Given the description of an element on the screen output the (x, y) to click on. 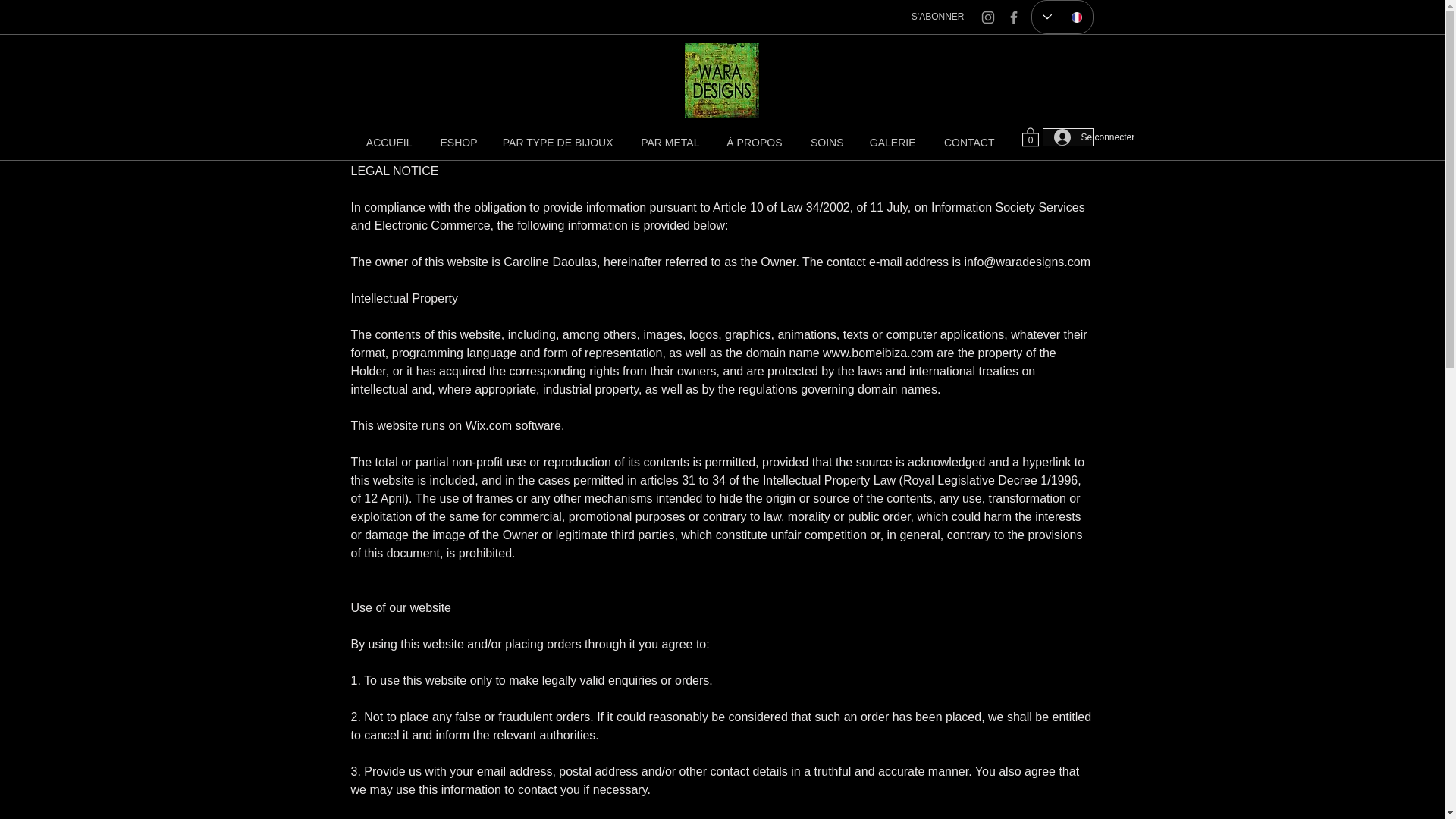
WARA DESIGNS thumbnail.jpg (721, 80)
PAR METAL (667, 142)
SOINS (823, 142)
ACCUEIL (386, 142)
GALERIE (891, 142)
ESHOP (455, 142)
PAR TYPE DE BIJOUX (555, 142)
CONTACT (966, 142)
S'ABONNER (937, 16)
Se connecter (1068, 136)
